Given the description of an element on the screen output the (x, y) to click on. 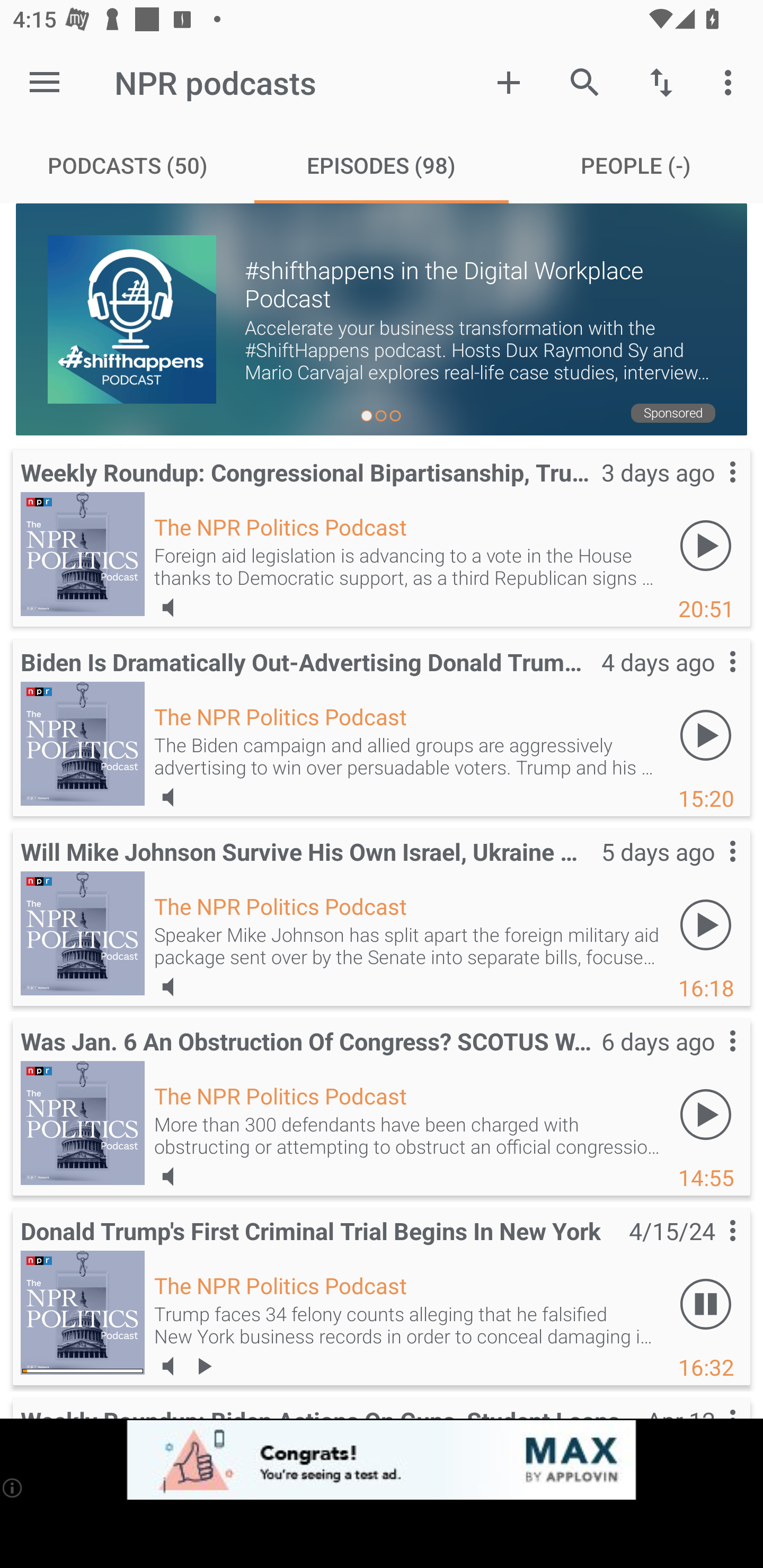
Open navigation sidebar (44, 82)
Create a 'Search Based Podcast' (508, 81)
Search (585, 81)
Sort (661, 81)
More options (731, 81)
Podcasts (50) PODCASTS (50) (127, 165)
People (-) PEOPLE (-) (635, 165)
Contextual menu (712, 489)
Play (705, 545)
Contextual menu (712, 679)
Play (705, 735)
Contextual menu (712, 869)
Play (705, 924)
Contextual menu (712, 1059)
Play (705, 1113)
Contextual menu (712, 1248)
Pause (705, 1303)
app-monetization (381, 1459)
(i) (11, 1487)
